Given the description of an element on the screen output the (x, y) to click on. 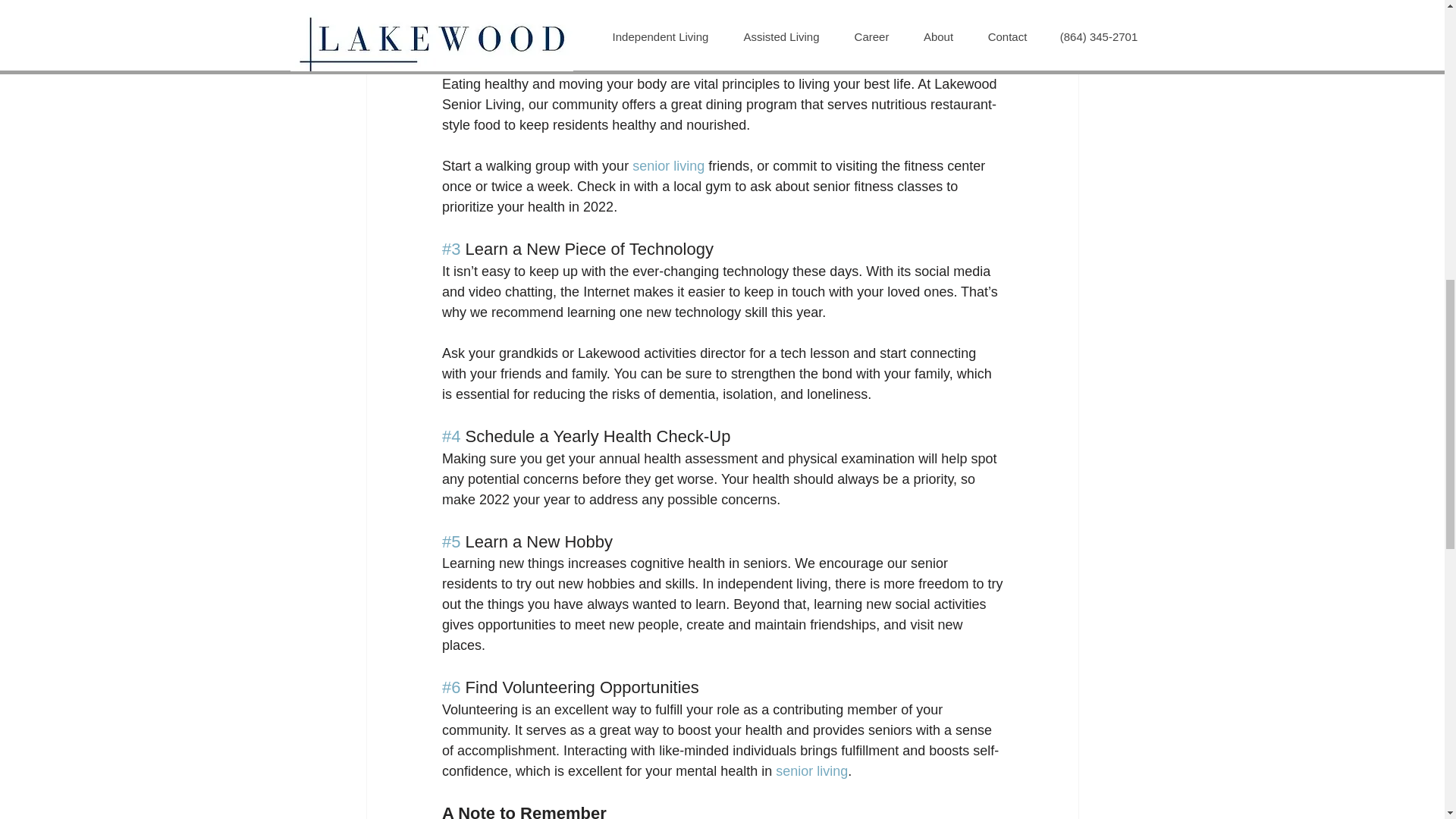
senior living (811, 770)
senior living (667, 165)
